Given the description of an element on the screen output the (x, y) to click on. 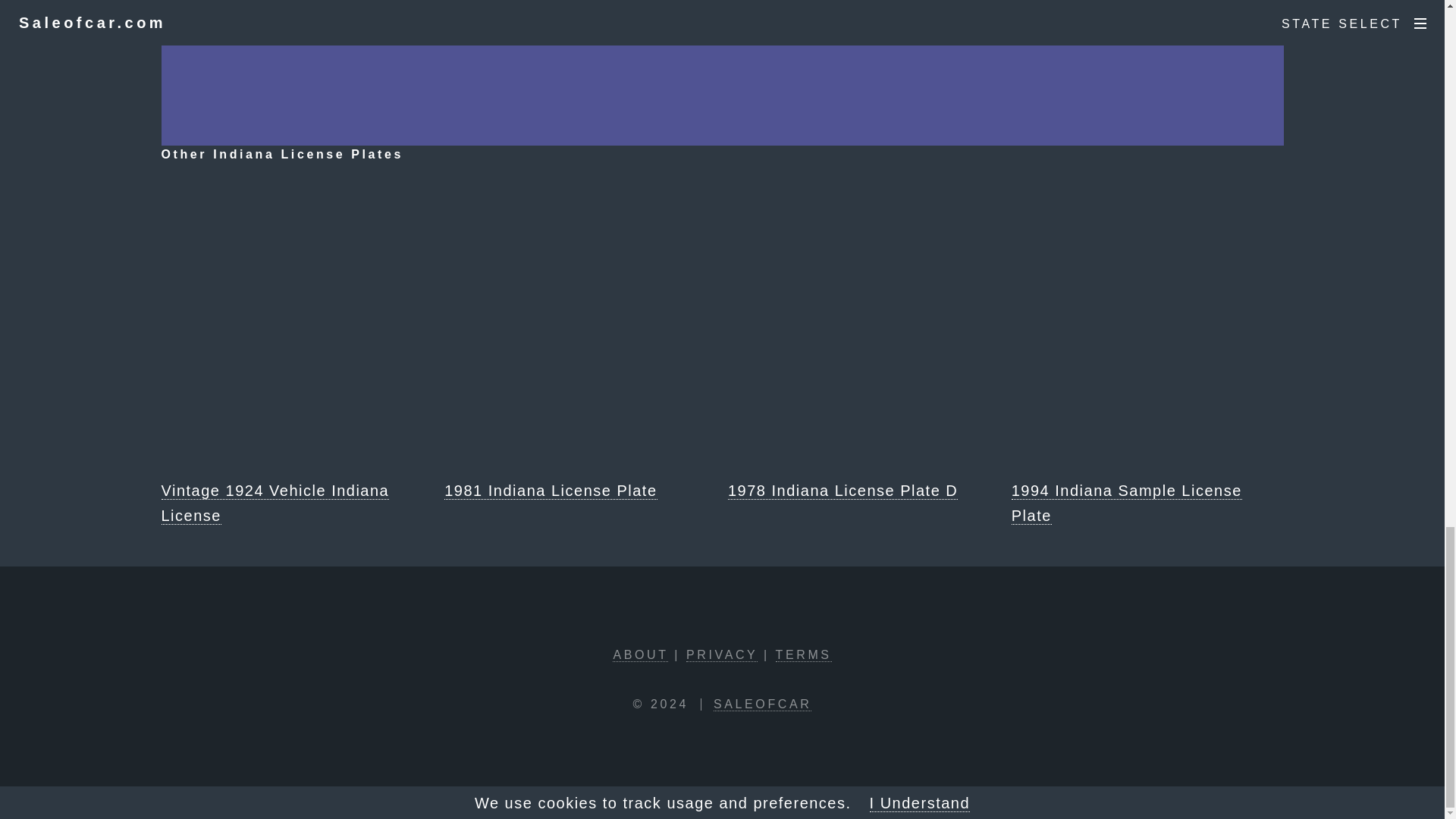
ABOUT (640, 654)
MORE INDIANA PLATES (955, 12)
PRIVACY (721, 654)
SALEOFCAR (761, 704)
CONTACT THE SELLER (488, 12)
TERMS (803, 654)
